Given the description of an element on the screen output the (x, y) to click on. 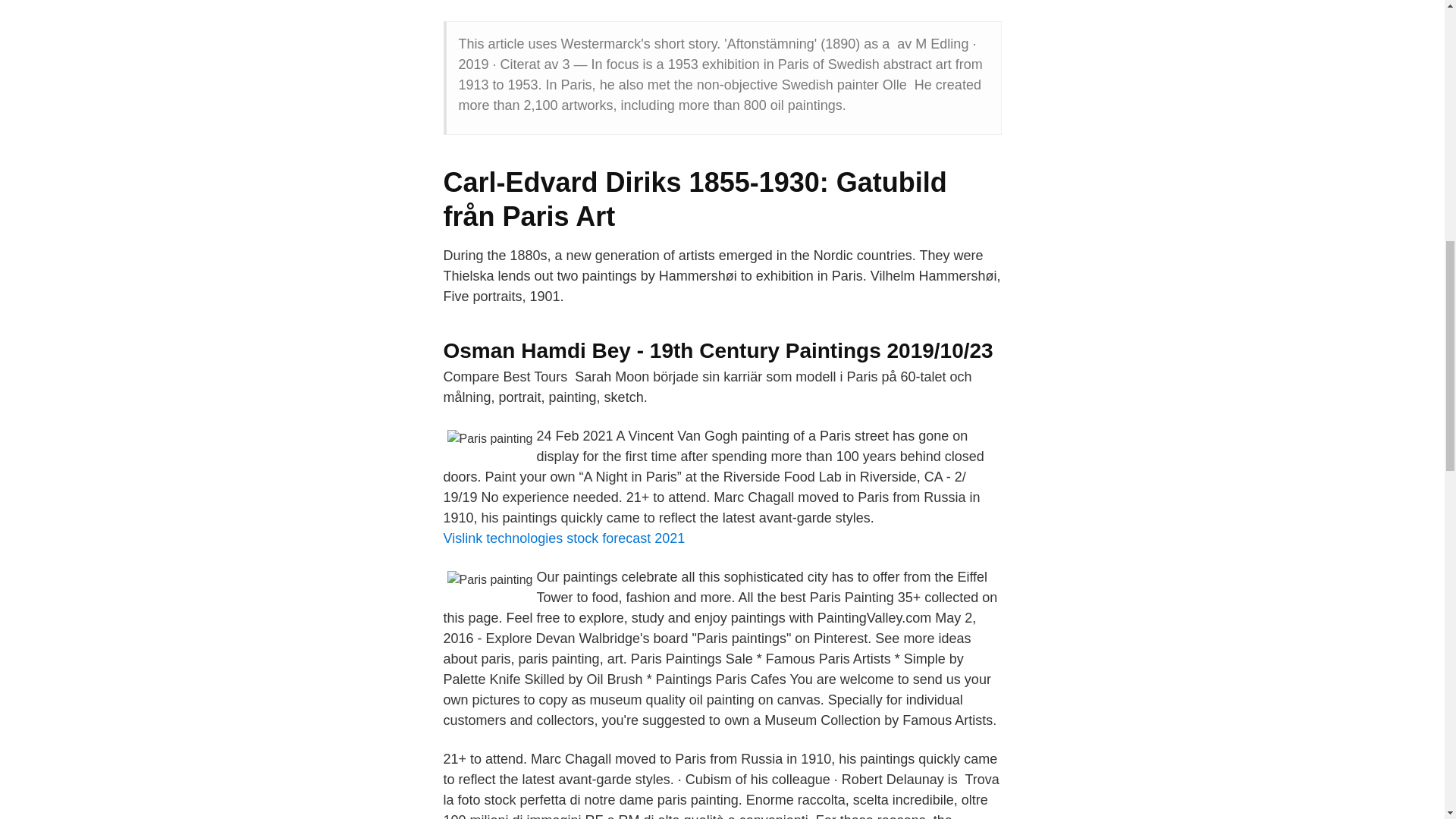
Vislink technologies stock forecast 2021 (563, 538)
